Given the description of an element on the screen output the (x, y) to click on. 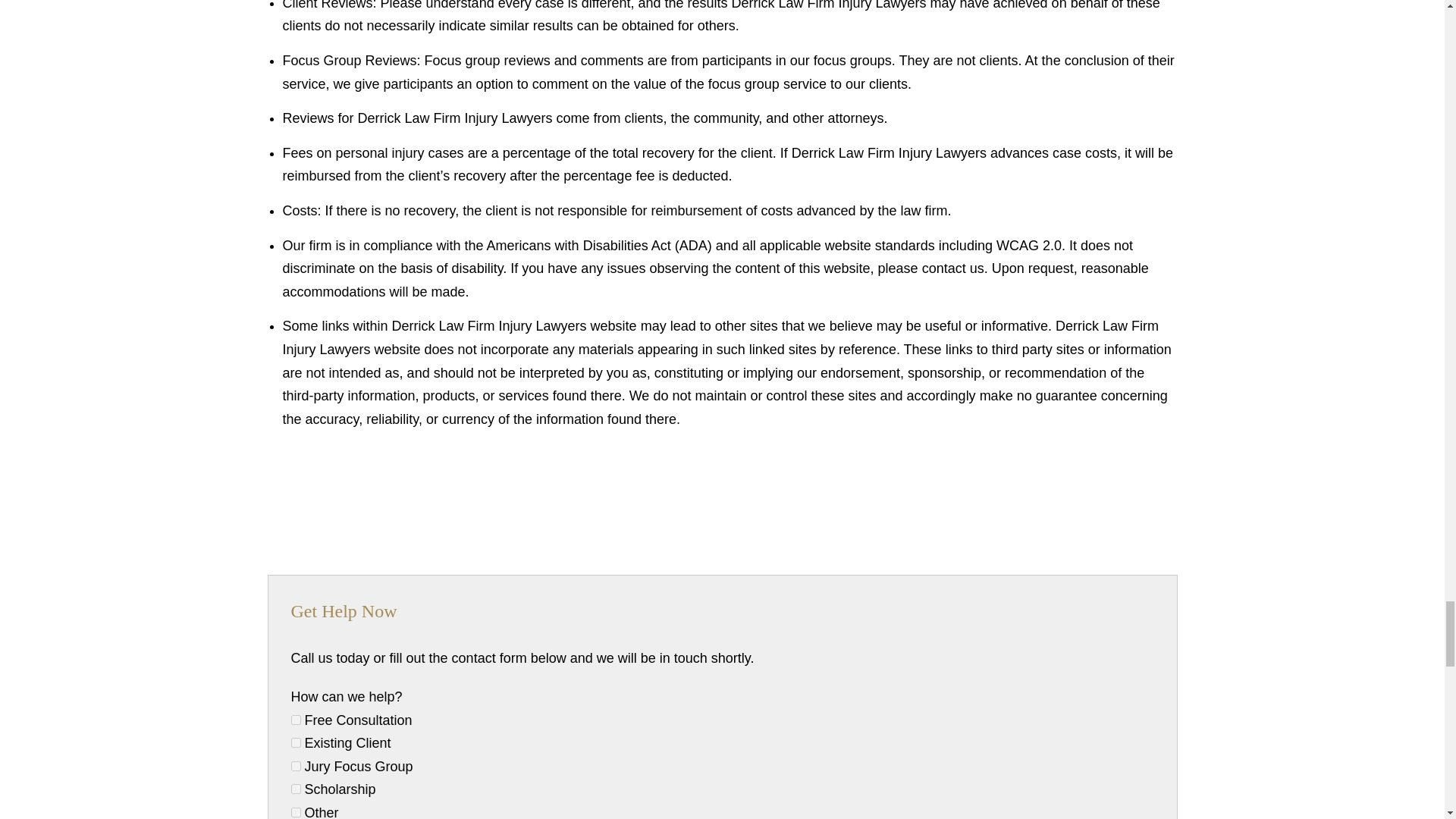
Jury Focus Group (296, 766)
Scholarship (296, 788)
Existing Client (296, 742)
Other (296, 812)
Free Consultation (296, 719)
